Given the description of an element on the screen output the (x, y) to click on. 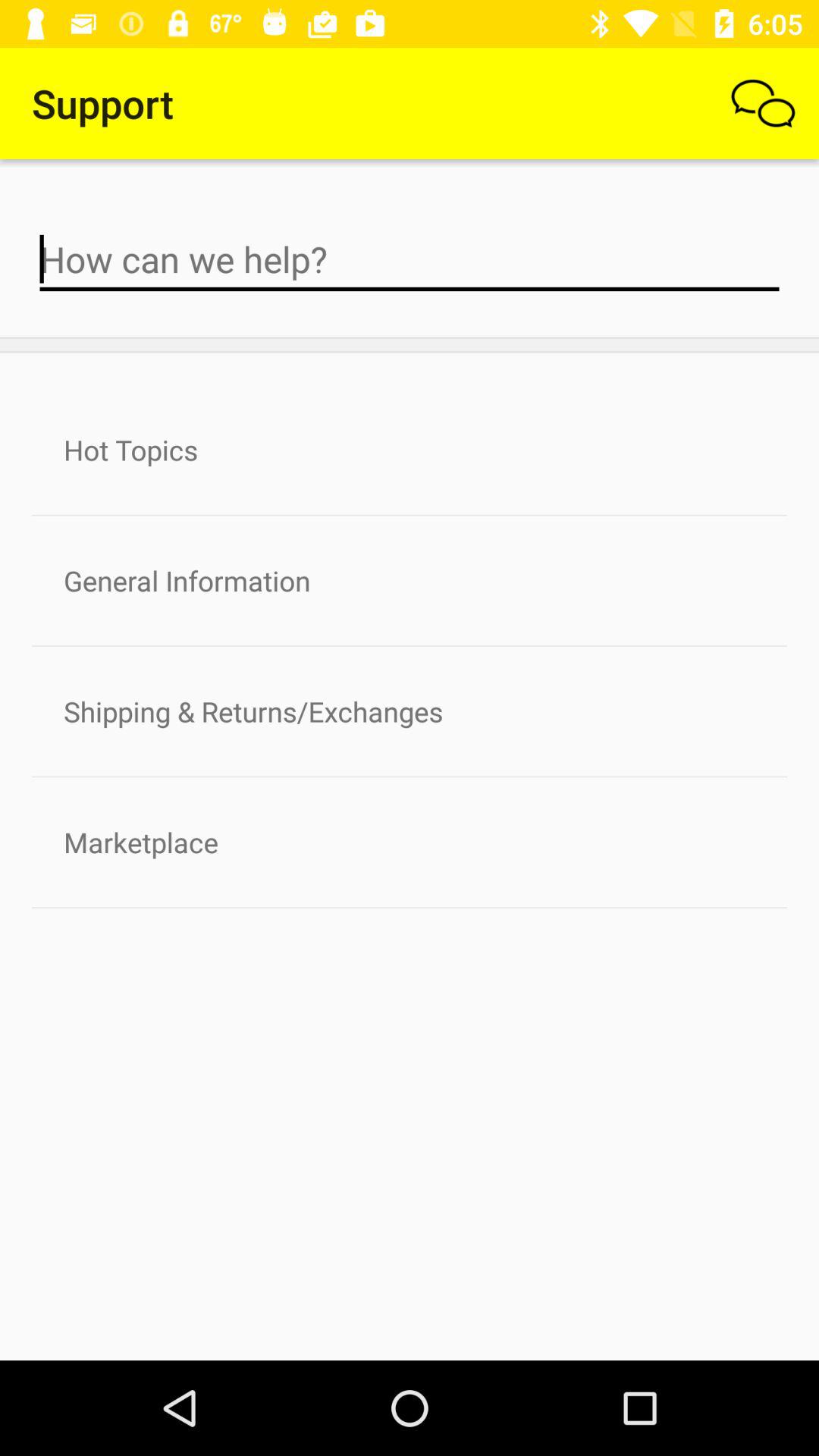
jump until shipping & returns/exchanges item (409, 711)
